Given the description of an element on the screen output the (x, y) to click on. 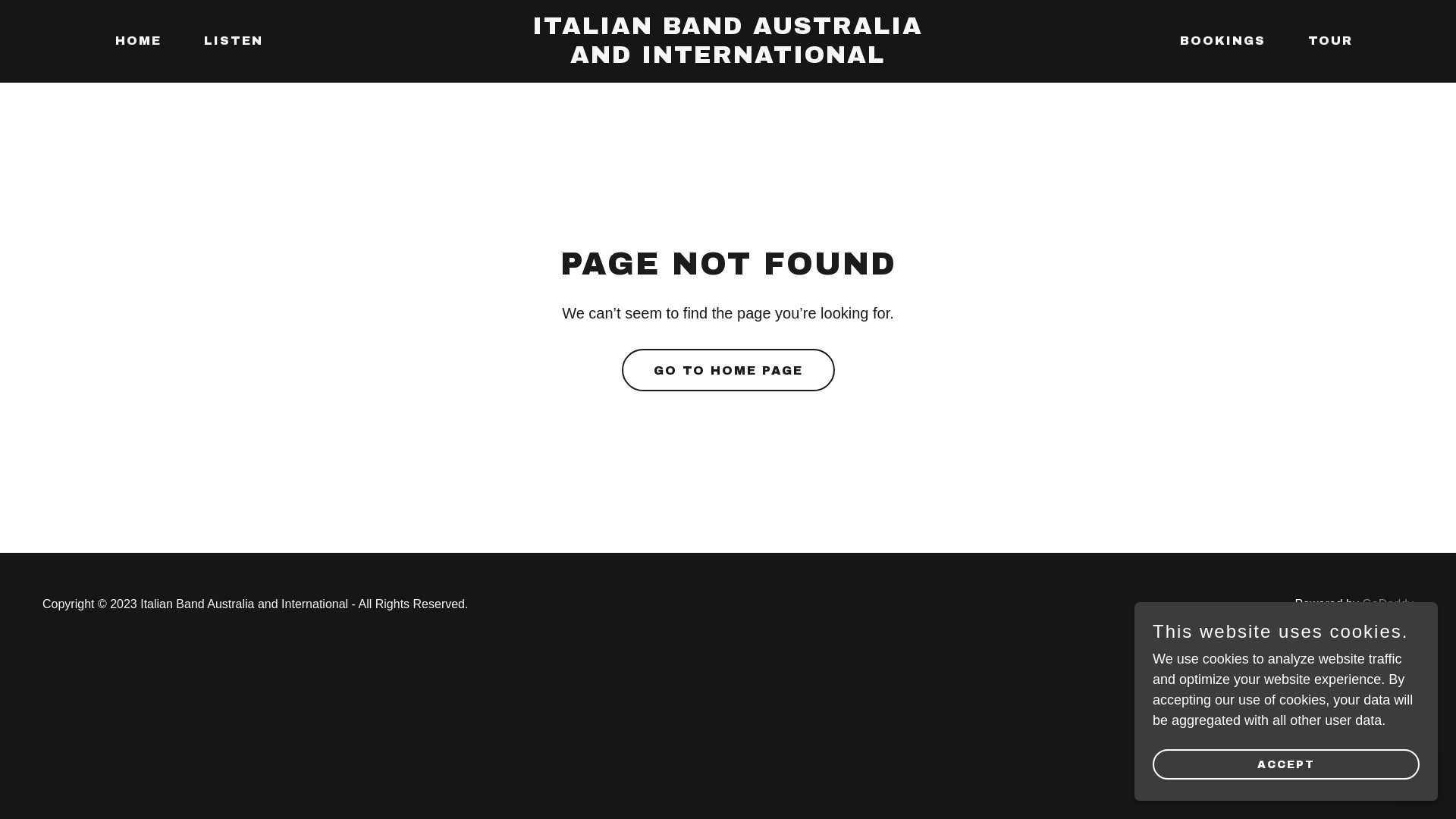
HOME Element type: text (132, 40)
TOUR Element type: text (1324, 40)
ITALIAN BAND AUSTRALIA AND INTERNATIONAL Element type: text (727, 57)
LISTEN Element type: text (227, 40)
GO TO HOME PAGE Element type: text (727, 369)
BOOKINGS Element type: text (1216, 40)
ACCEPT Element type: text (1285, 764)
GoDaddy Element type: text (1387, 603)
